Given the description of an element on the screen output the (x, y) to click on. 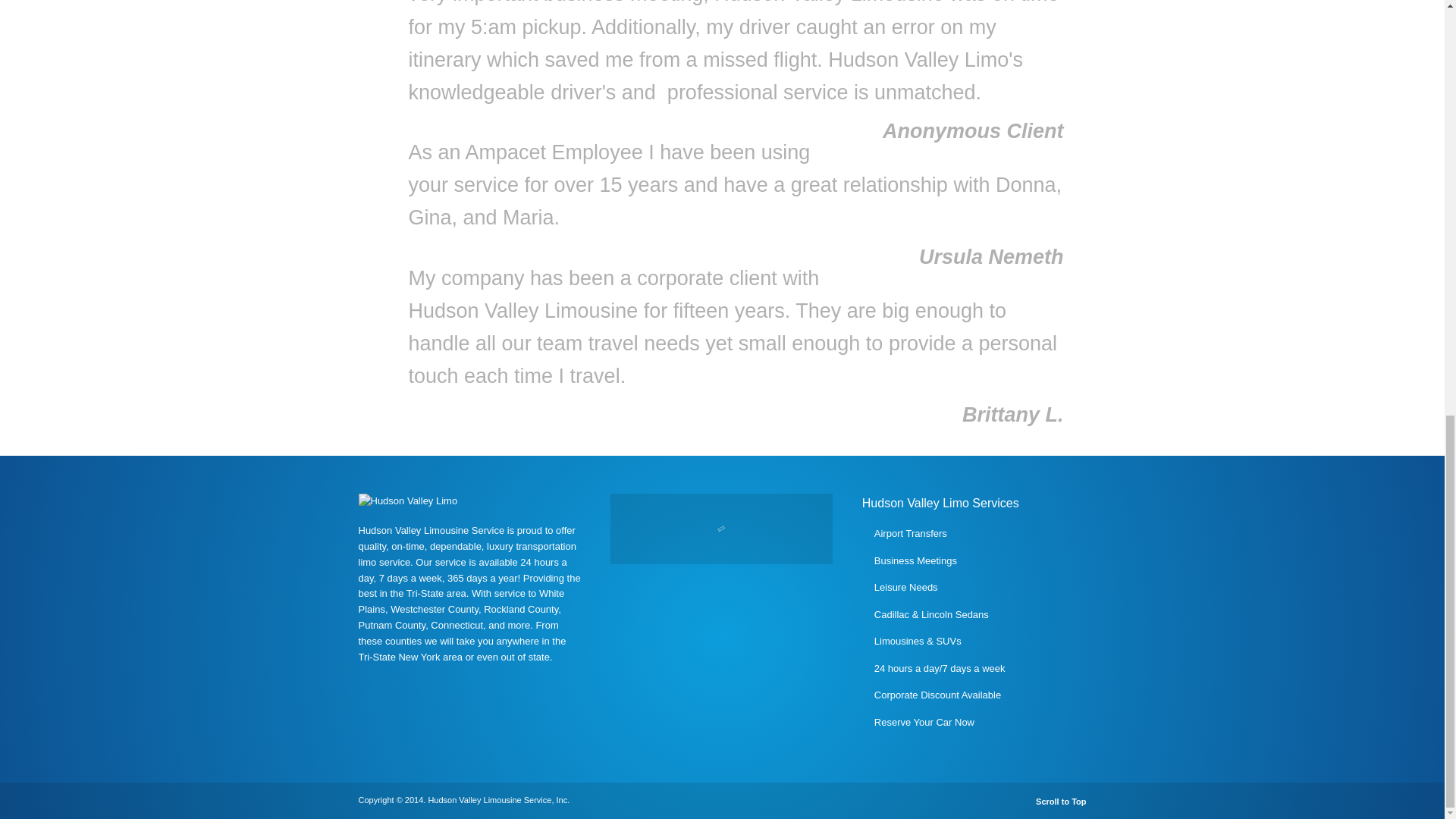
Reserve Your Car Now (924, 721)
Scroll to Top (1055, 801)
